Given the description of an element on the screen output the (x, y) to click on. 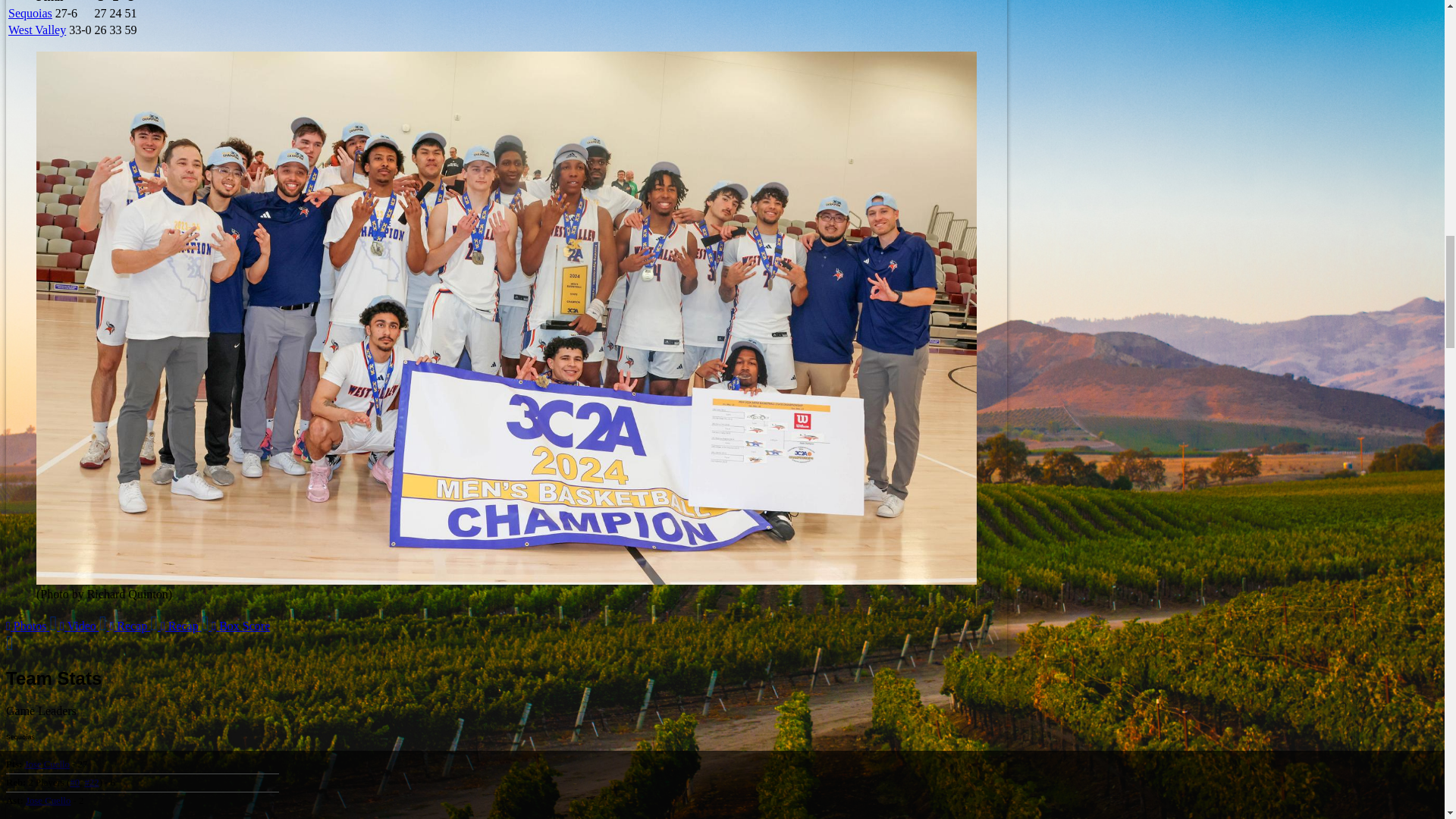
Cameron Clark (91, 782)
Alex Argandar (74, 782)
